Given the description of an element on the screen output the (x, y) to click on. 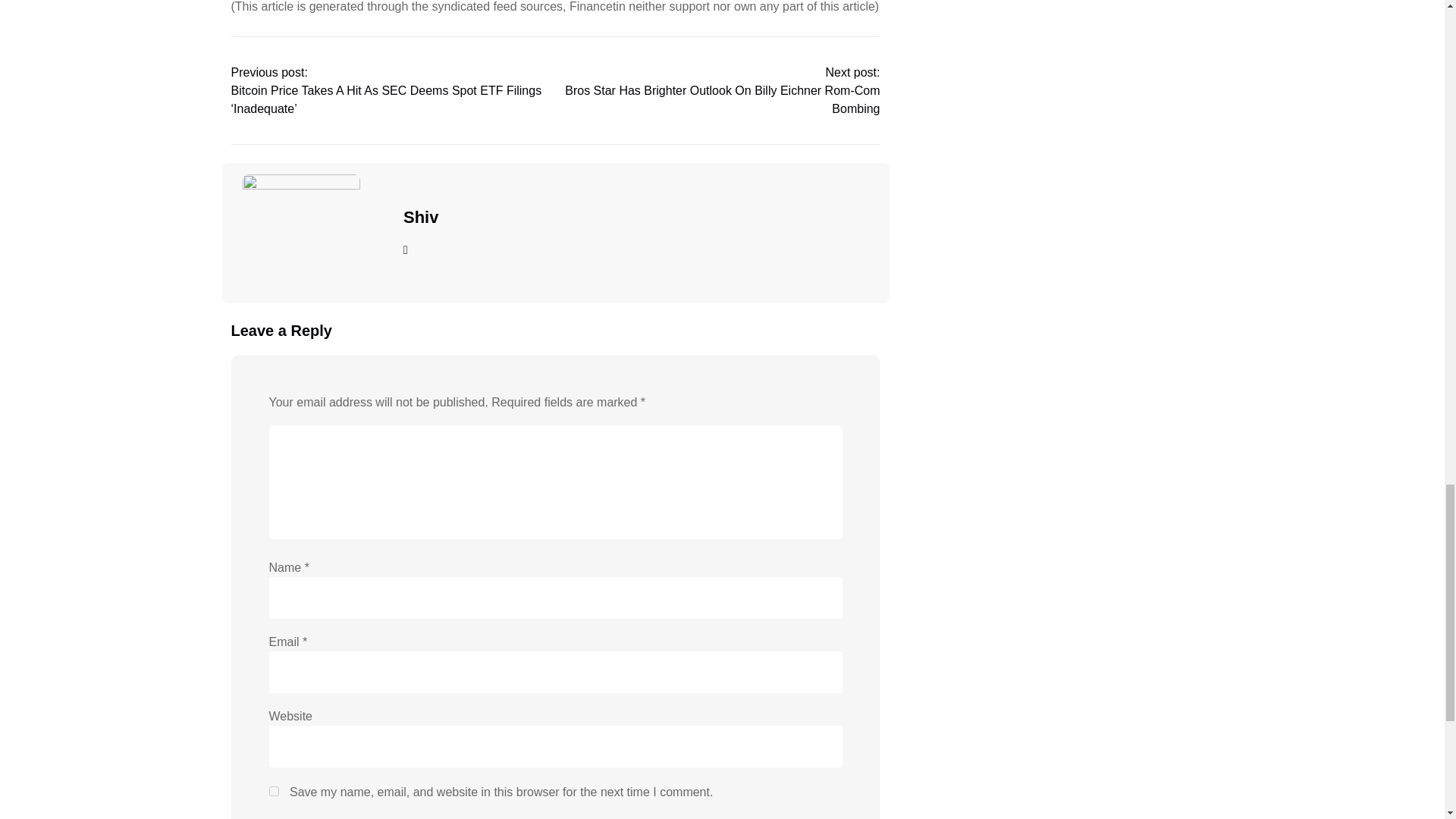
yes (272, 791)
Shiv (420, 217)
